Given the description of an element on the screen output the (x, y) to click on. 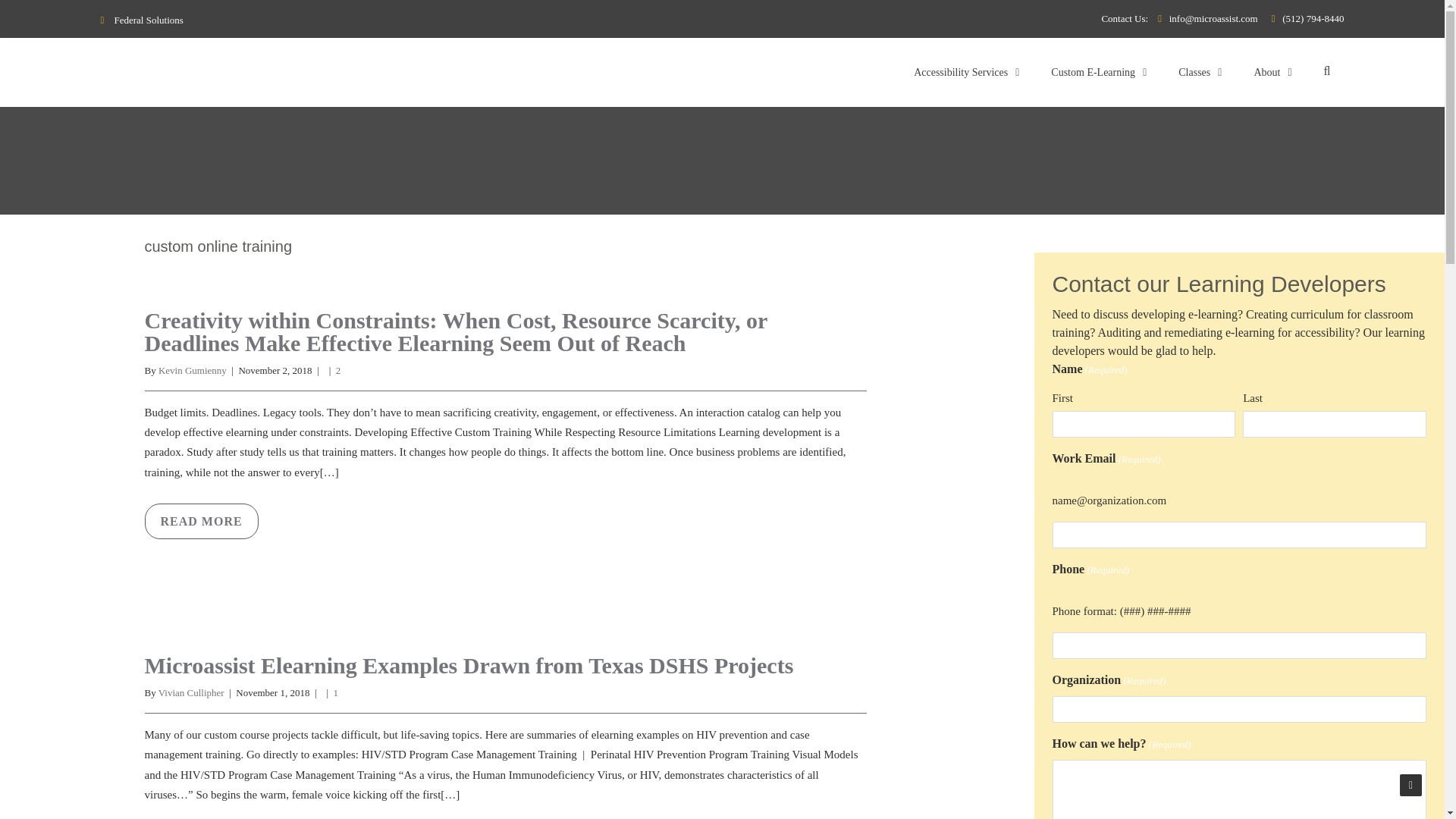
Classes (1198, 71)
Contact Us:    (1128, 18)
About (1271, 71)
Accessibility Services (964, 71)
Federal Solutions (141, 19)
Custom E-Learning (1097, 71)
Microassist (223, 73)
